Given the description of an element on the screen output the (x, y) to click on. 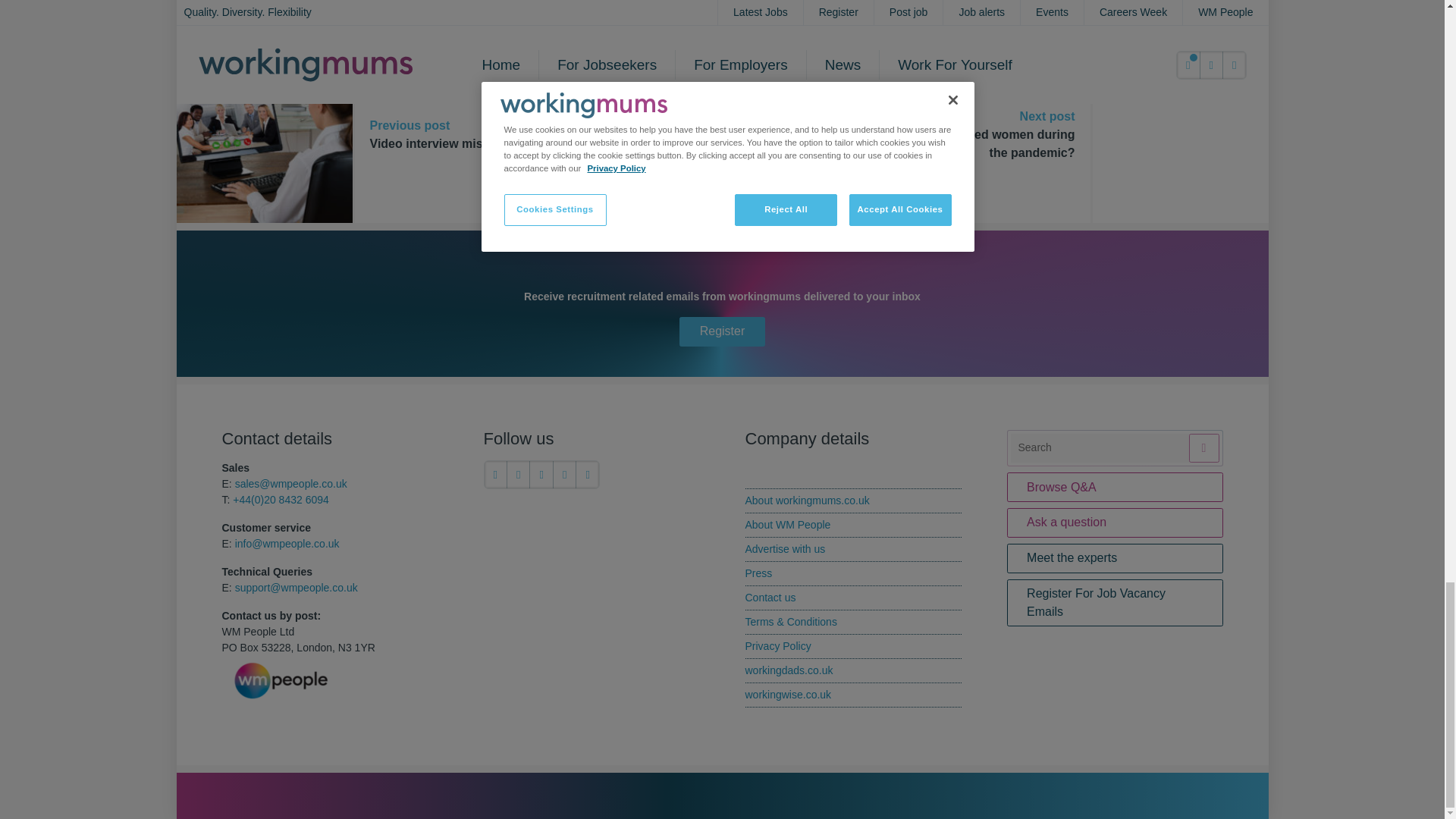
Post Comment (531, 5)
